Given the description of an element on the screen output the (x, y) to click on. 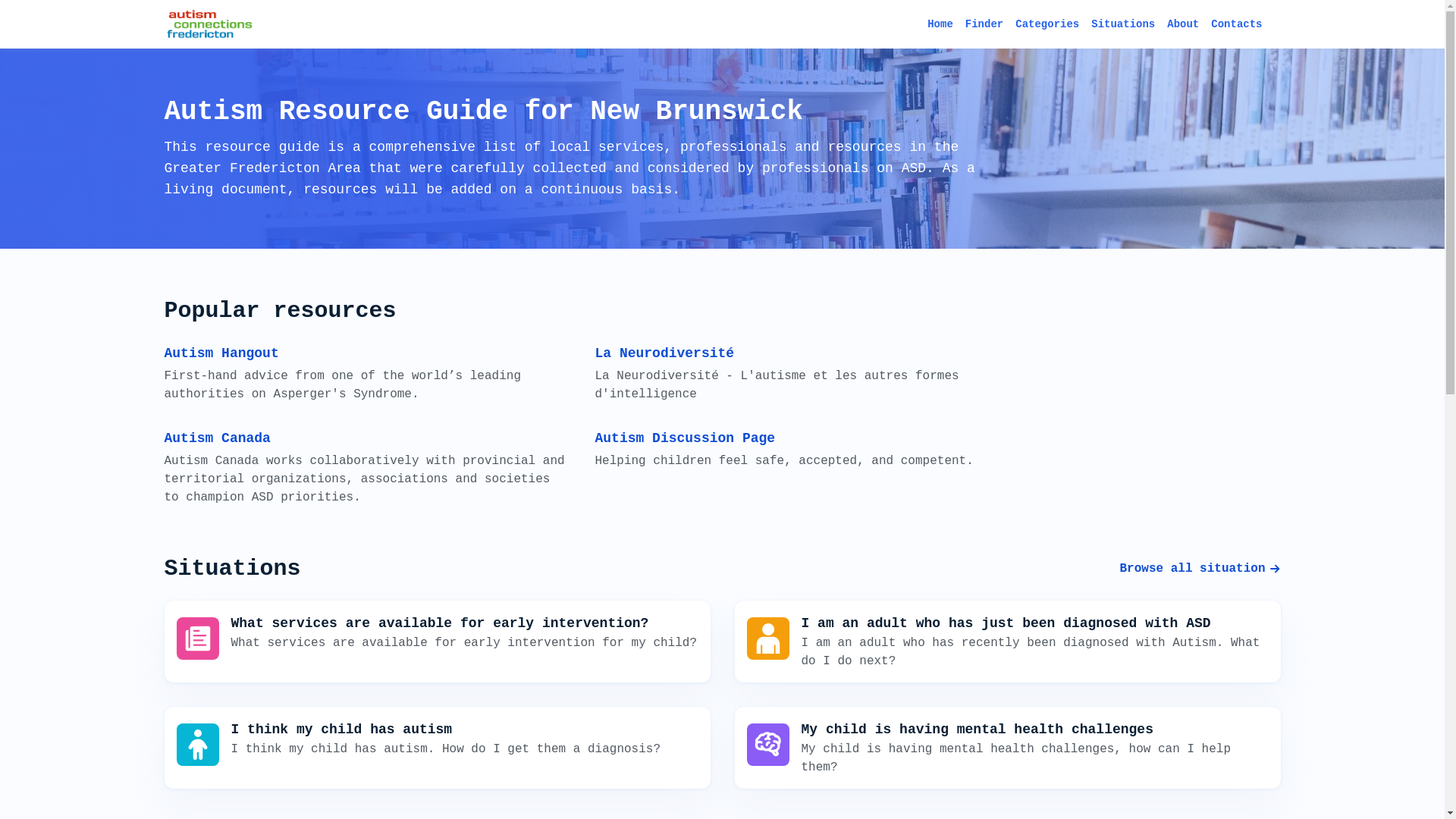
Autism Canada Element type: text (216, 437)
Contacts Element type: text (1236, 24)
Home Element type: text (940, 24)
Categories Element type: text (1047, 24)
Autism Discussion Page Element type: text (684, 437)
About Element type: text (1182, 24)
Autism Hangout Element type: text (220, 352)
Finder Element type: text (984, 24)
Browse all situation Element type: text (1199, 568)
Situations Element type: text (1122, 24)
